Given the description of an element on the screen output the (x, y) to click on. 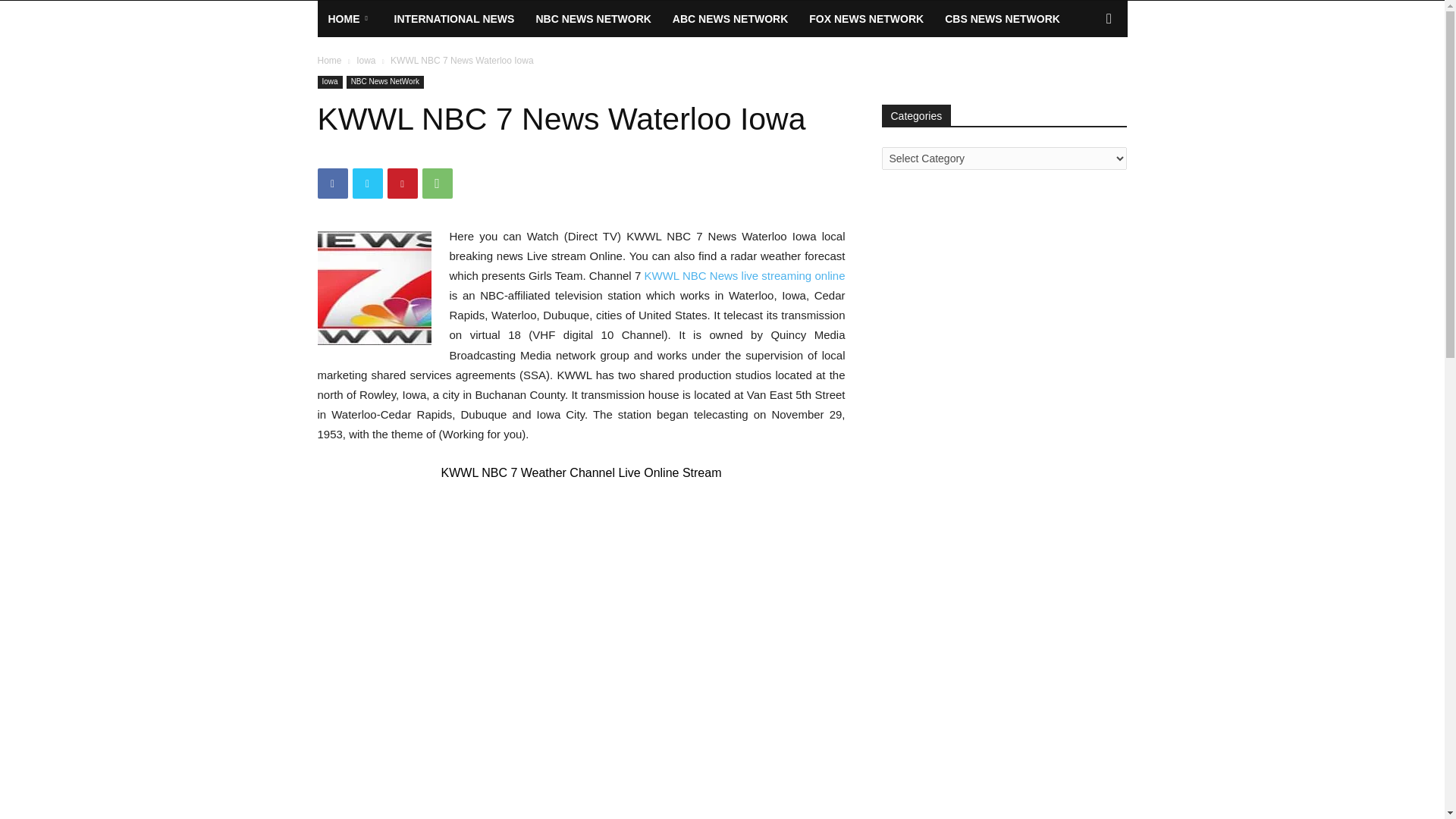
ABC NEWS NETWORK (729, 18)
Facebook (332, 183)
Search (1085, 79)
View all posts in Iowa (365, 60)
NBC News live streaming online (763, 275)
NBC News NetWork (384, 82)
FOX NEWS NETWORK (865, 18)
Twitter (366, 183)
INTERNATIONAL NEWS (454, 18)
WhatsApp (436, 183)
HOME (349, 18)
CBS NEWS NETWORK (1002, 18)
Home (328, 60)
KWWL (662, 275)
Iowa (329, 82)
